Given the description of an element on the screen output the (x, y) to click on. 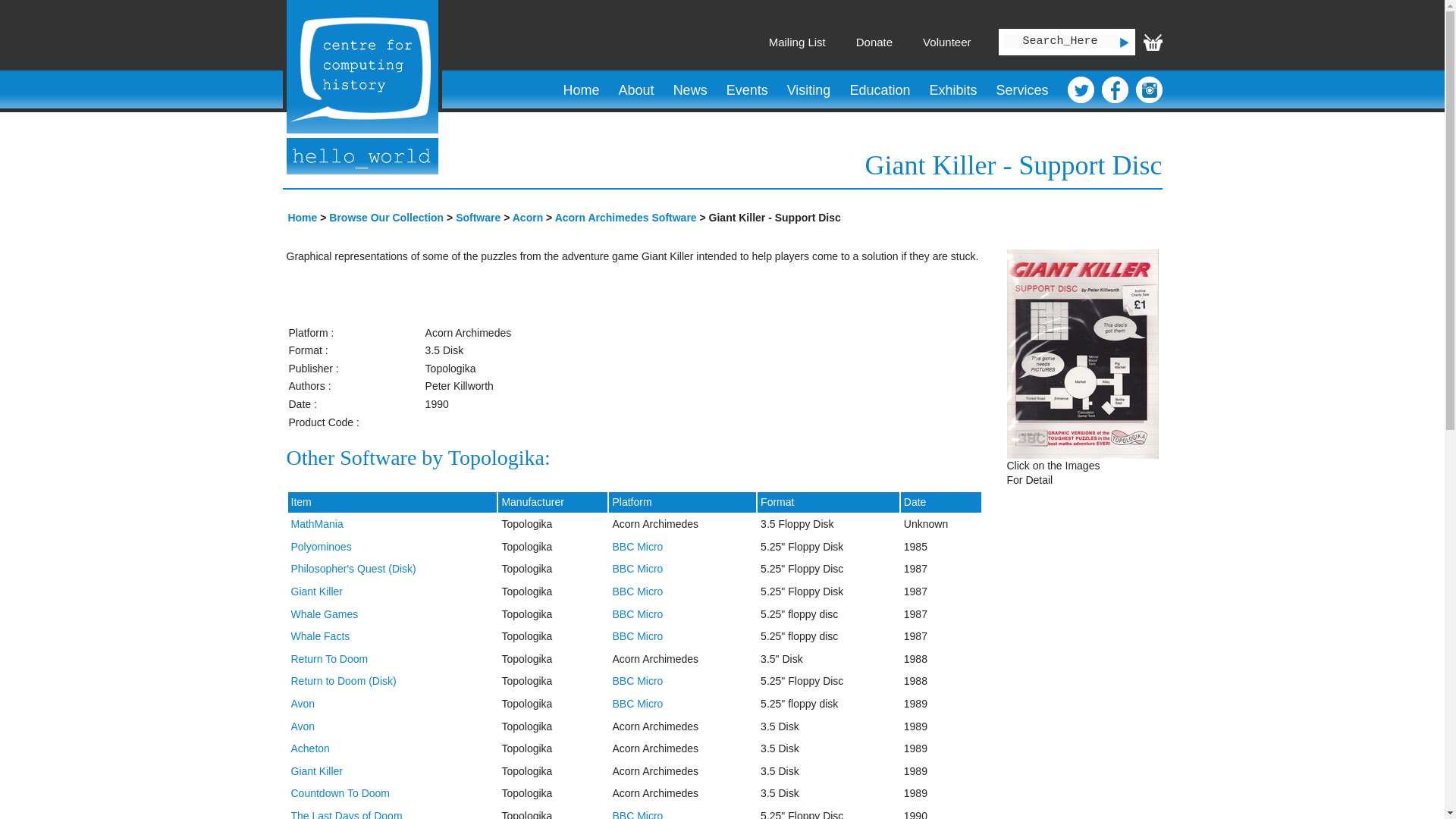
Education (879, 90)
Visiting (808, 90)
Exhibits (951, 90)
Events (746, 90)
About (636, 90)
News (690, 90)
Donate (874, 42)
Volunteer (947, 42)
Mailing List (796, 42)
Home (581, 90)
